Given the description of an element on the screen output the (x, y) to click on. 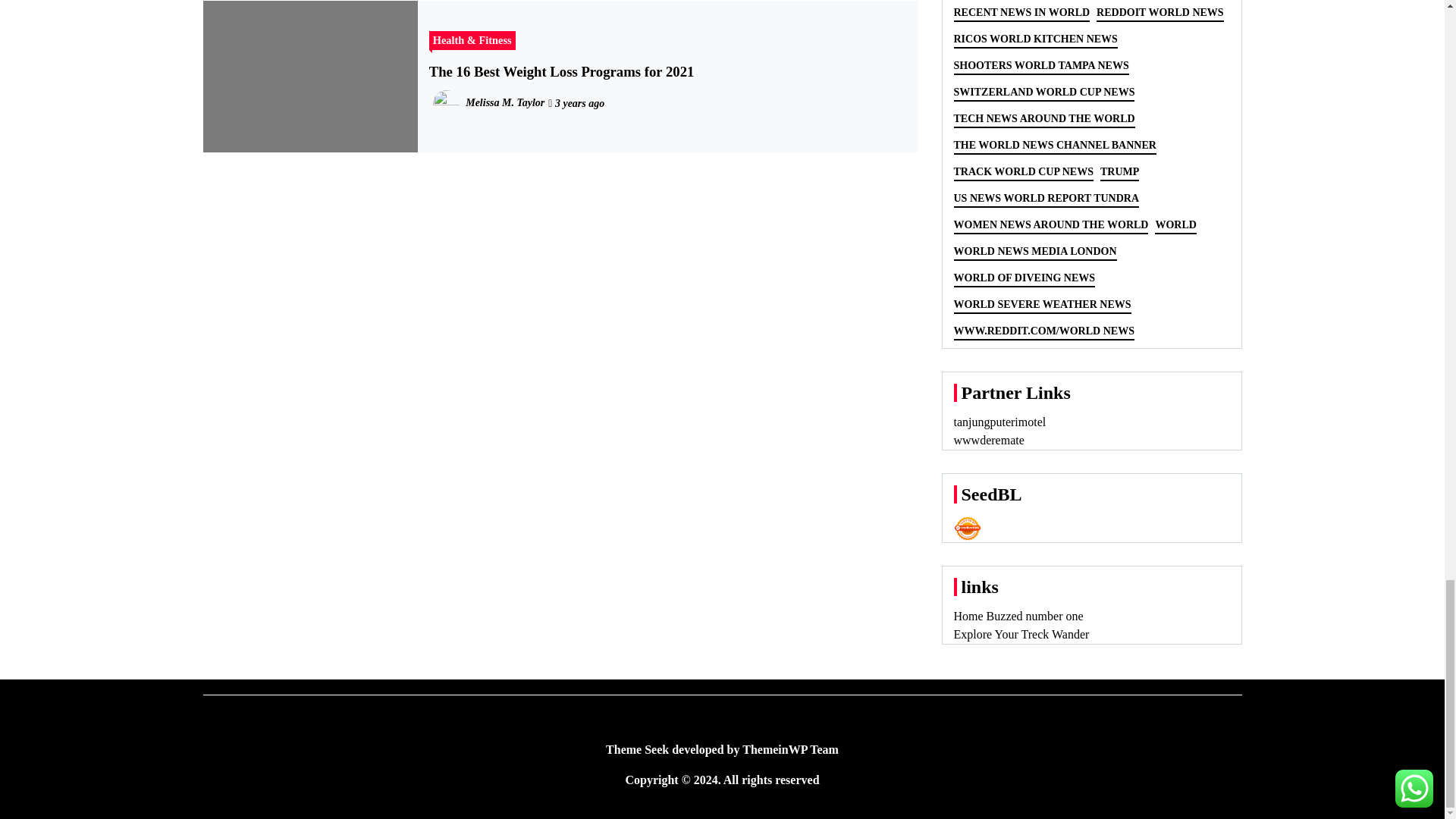
Seedbacklink (967, 528)
